Given the description of an element on the screen output the (x, y) to click on. 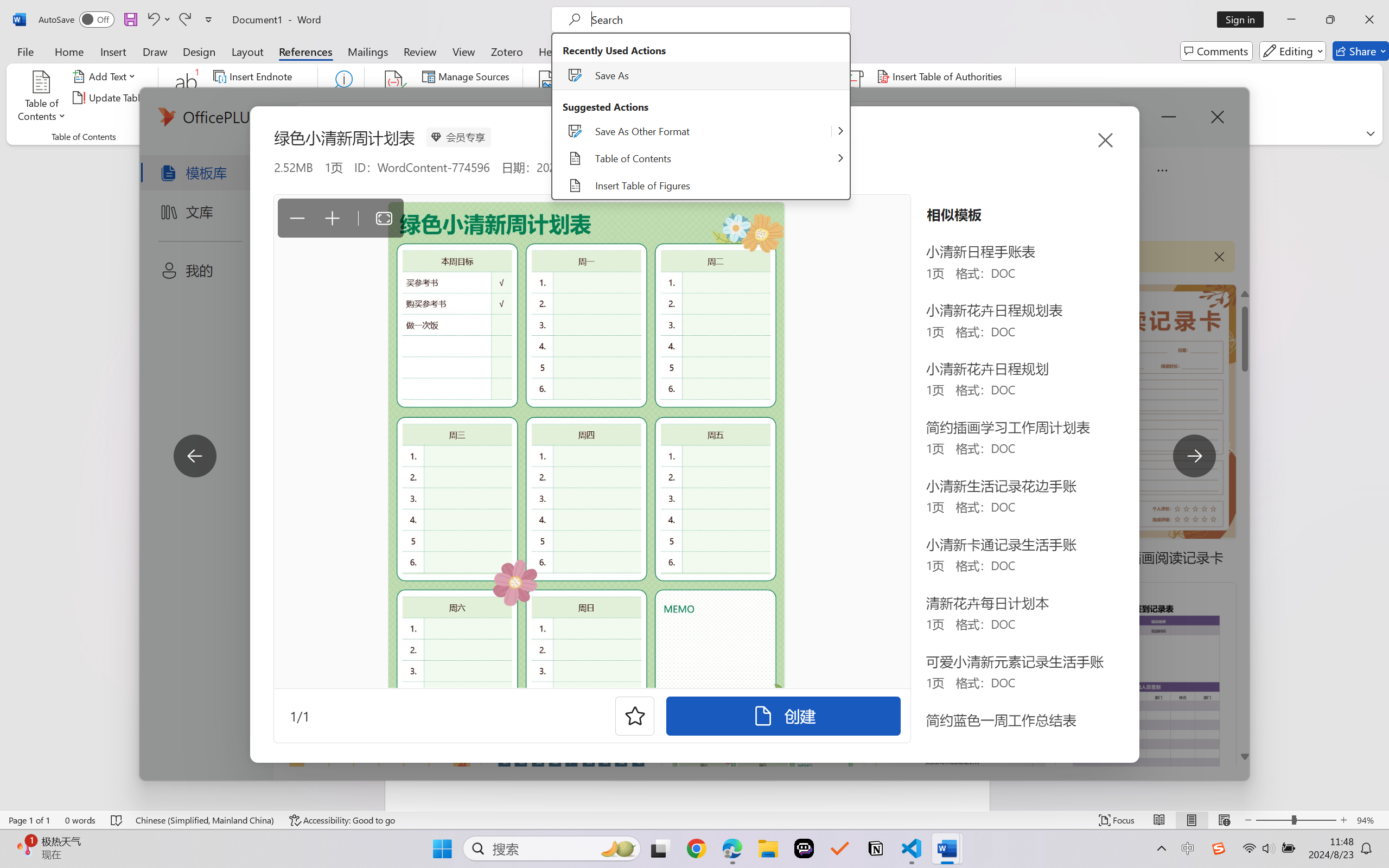
Insert Endnote (253, 75)
Next Footnote (253, 97)
Update Table (914, 97)
Add Text (106, 75)
Language Chinese (Simplified, Mainland China) (205, 819)
Table of Contents (42, 97)
Editing (1292, 50)
